Given the description of an element on the screen output the (x, y) to click on. 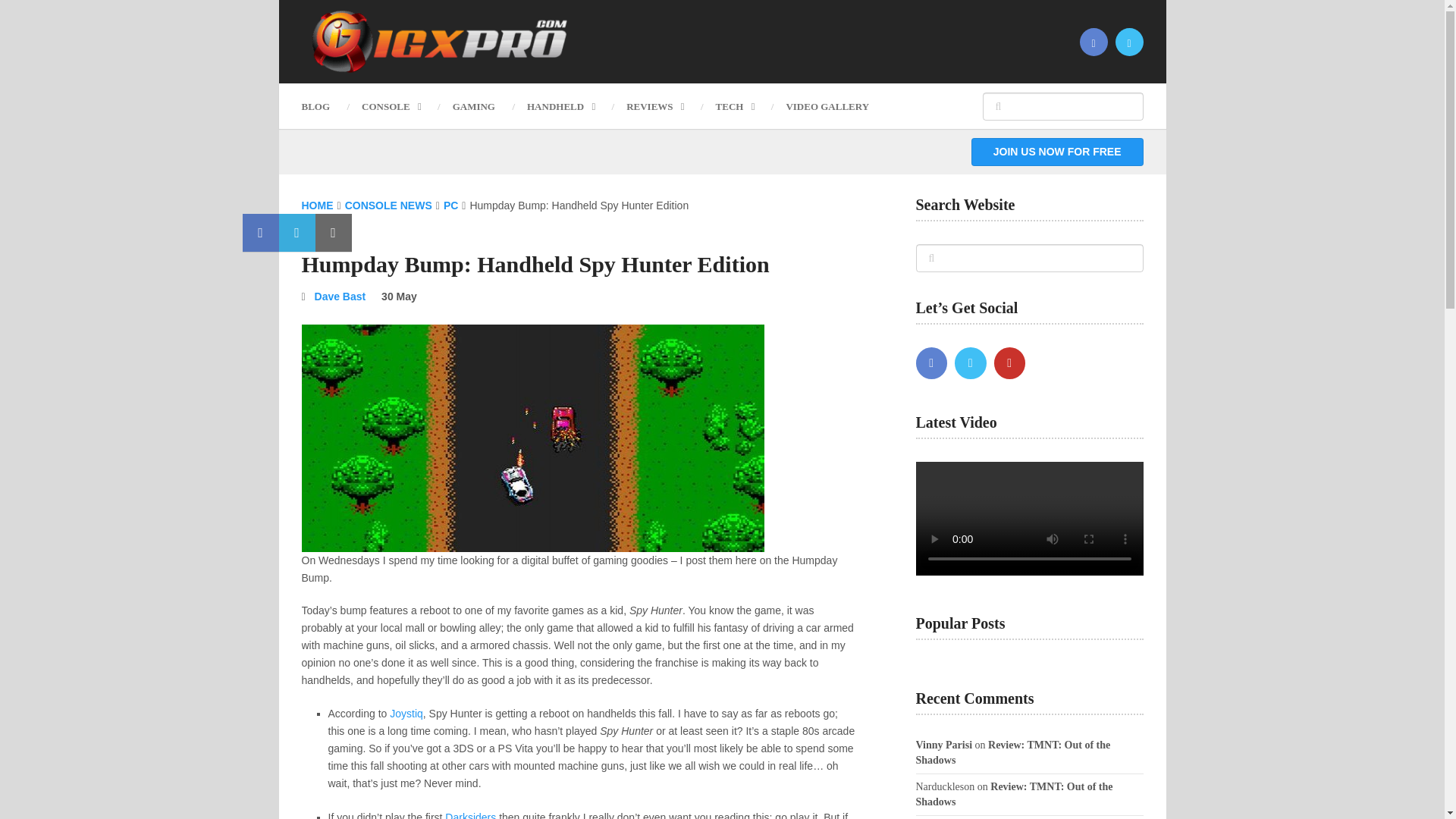
Facebook (931, 363)
HOME (317, 205)
Twitter (971, 363)
CONSOLE NEWS (388, 205)
Darksiders (470, 815)
VIDEO GALLERY (827, 105)
Joystiq (406, 713)
YouTube (1008, 363)
REVIEWS (654, 105)
Dave Bast (340, 296)
TECH (735, 105)
Posts by Dave Bast (340, 296)
CONSOLE (391, 105)
Join Us Now For Free (1056, 152)
JOIN US NOW FOR FREE (1056, 152)
